Given the description of an element on the screen output the (x, y) to click on. 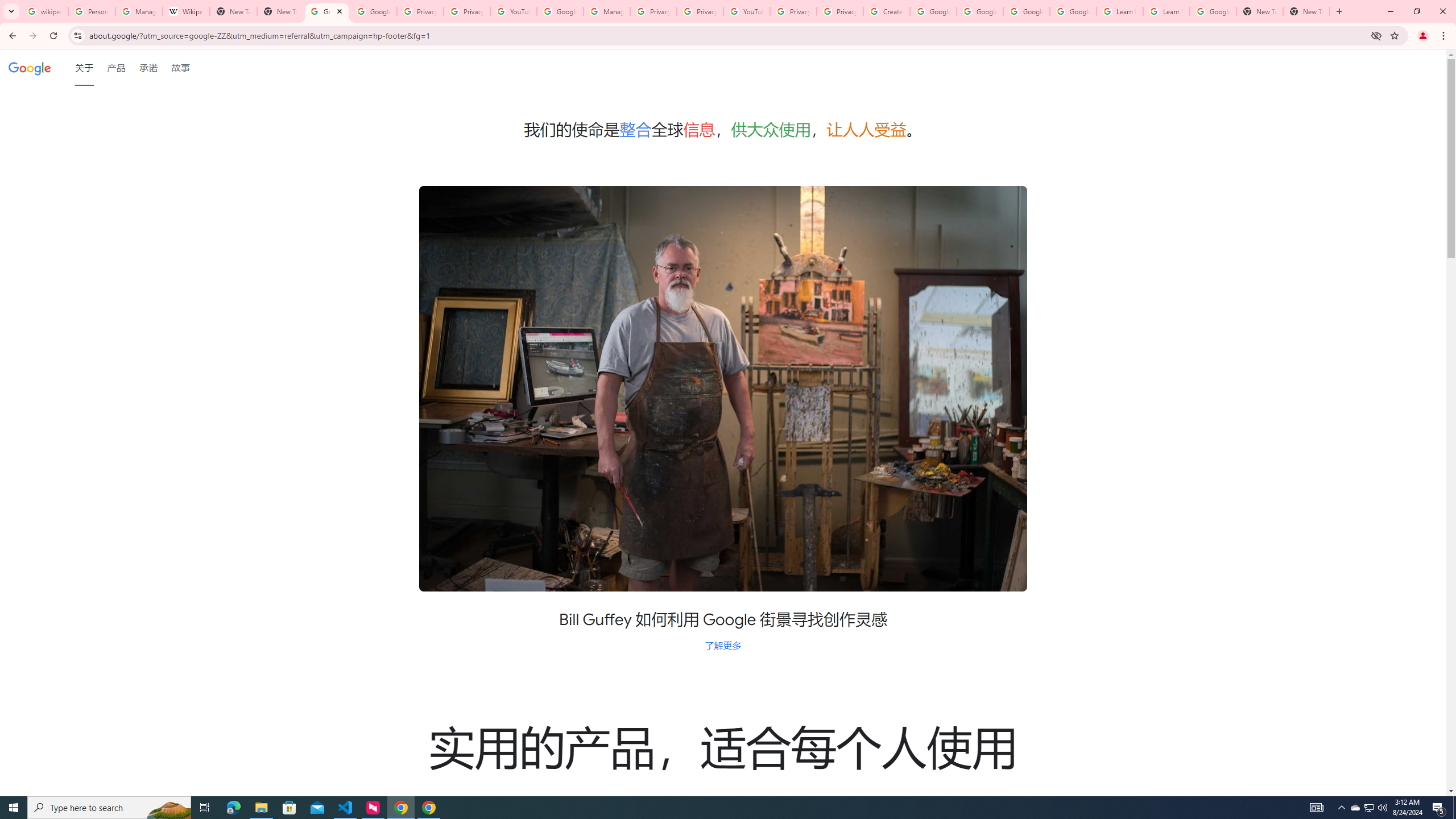
New Tab (1338, 11)
Google Account Help (1026, 11)
Chrome (1445, 35)
Search tabs (10, 11)
Google Account Help (980, 11)
Back (10, 35)
Create your Google Account (886, 11)
YouTube (745, 11)
Google Drive: Sign-in (373, 11)
System (6, 6)
YouTube (512, 11)
